Given the description of an element on the screen output the (x, y) to click on. 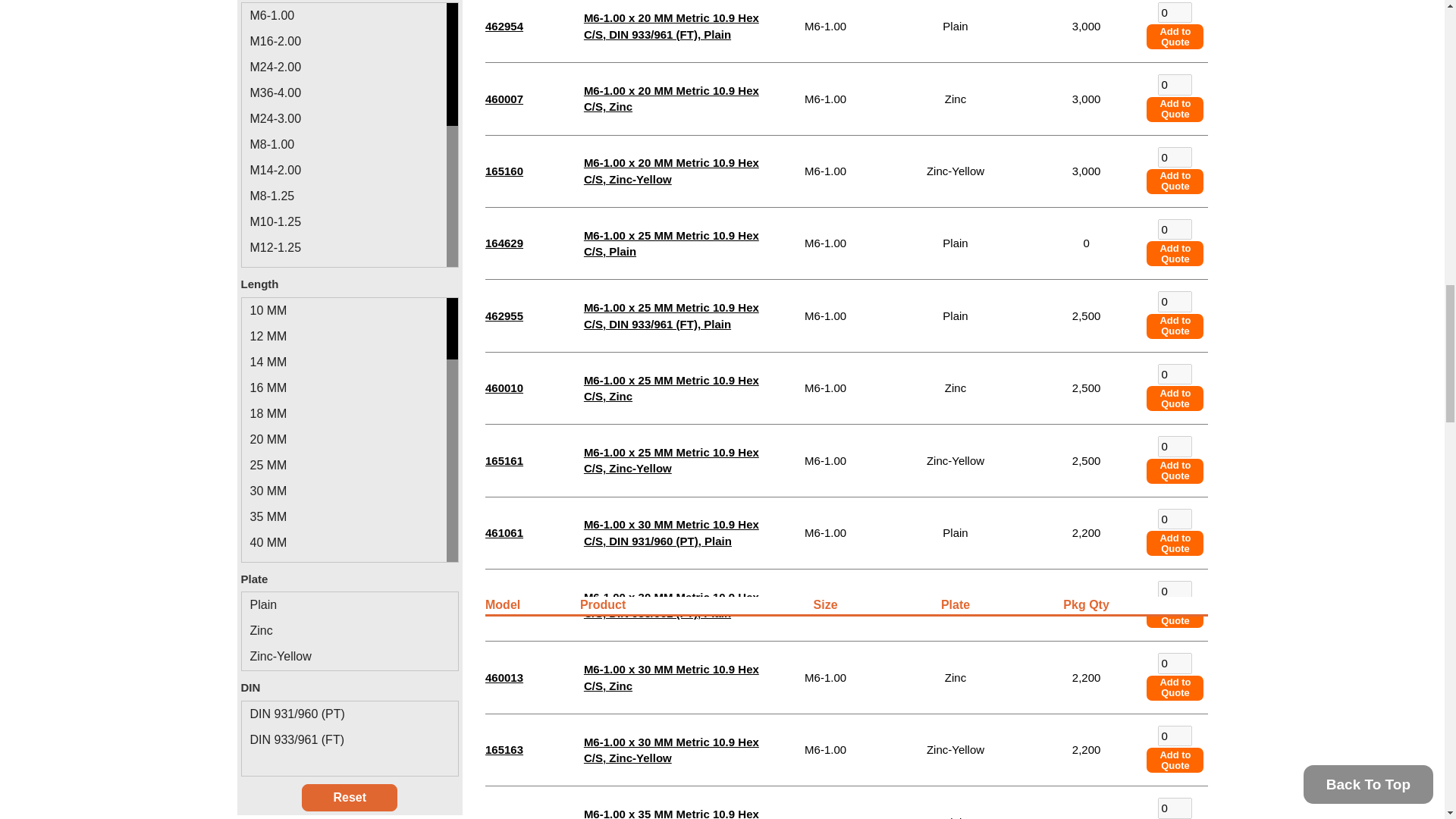
0 (1174, 157)
0 (1174, 12)
0 (1174, 84)
0 (1174, 229)
